Given the description of an element on the screen output the (x, y) to click on. 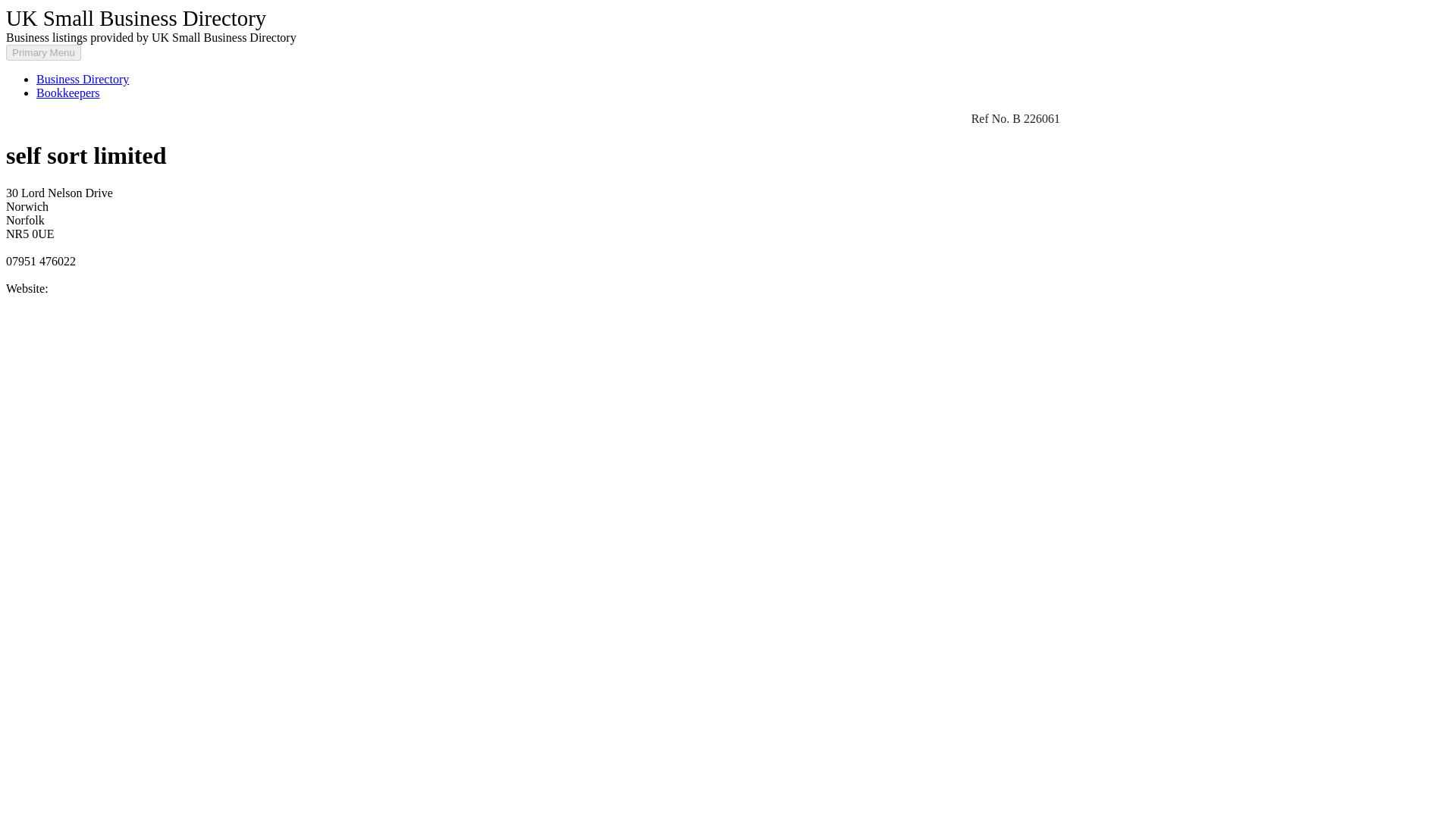
Bookkeepers (68, 92)
Primary Menu (43, 52)
Business Directory (82, 78)
